Given the description of an element on the screen output the (x, y) to click on. 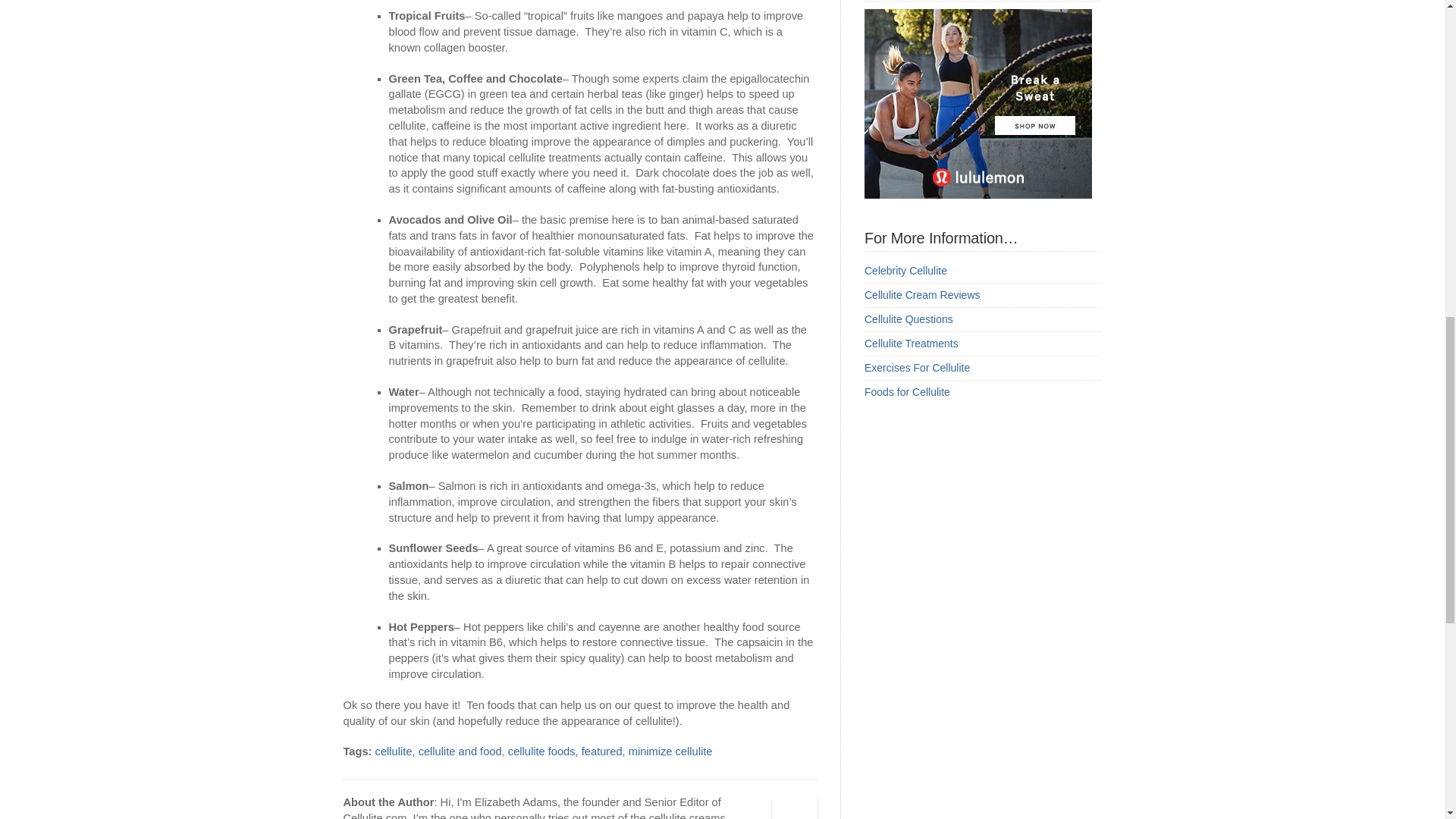
Foods for Cellulite (907, 391)
cellulite and food (460, 751)
Exercises For Cellulite (916, 367)
Cellulite Cream Reviews (921, 295)
minimize cellulite (670, 751)
featured (601, 751)
Cellulite Questions (908, 318)
Celebrity Cellulite (905, 270)
cellulite foods (541, 751)
Cellulite Treatments (911, 343)
